Given the description of an element on the screen output the (x, y) to click on. 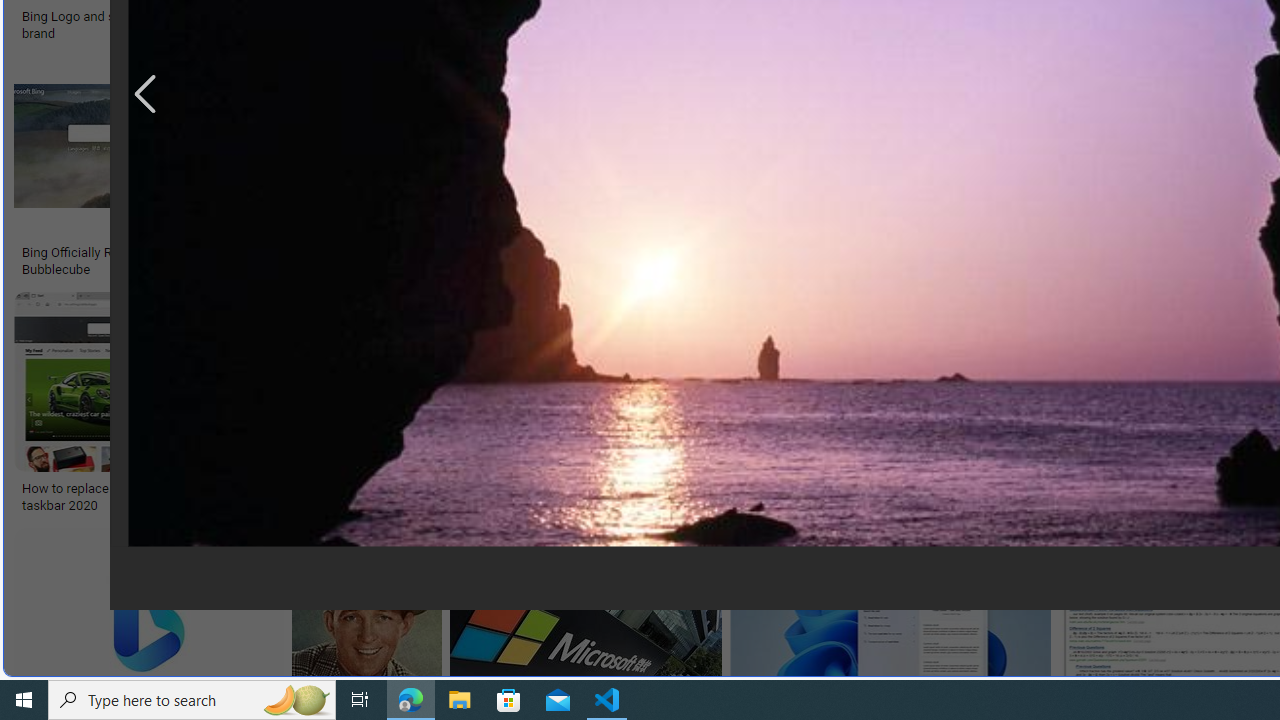
How to replace Bing in Windows 10 search on the taskbar 2020 (164, 497)
Bing - SEOLendSave (493, 169)
How to replace Bing in Windows 10 search on the taskbar 2020 (164, 497)
Bing - SEOLend (386, 253)
